Given the description of an element on the screen output the (x, y) to click on. 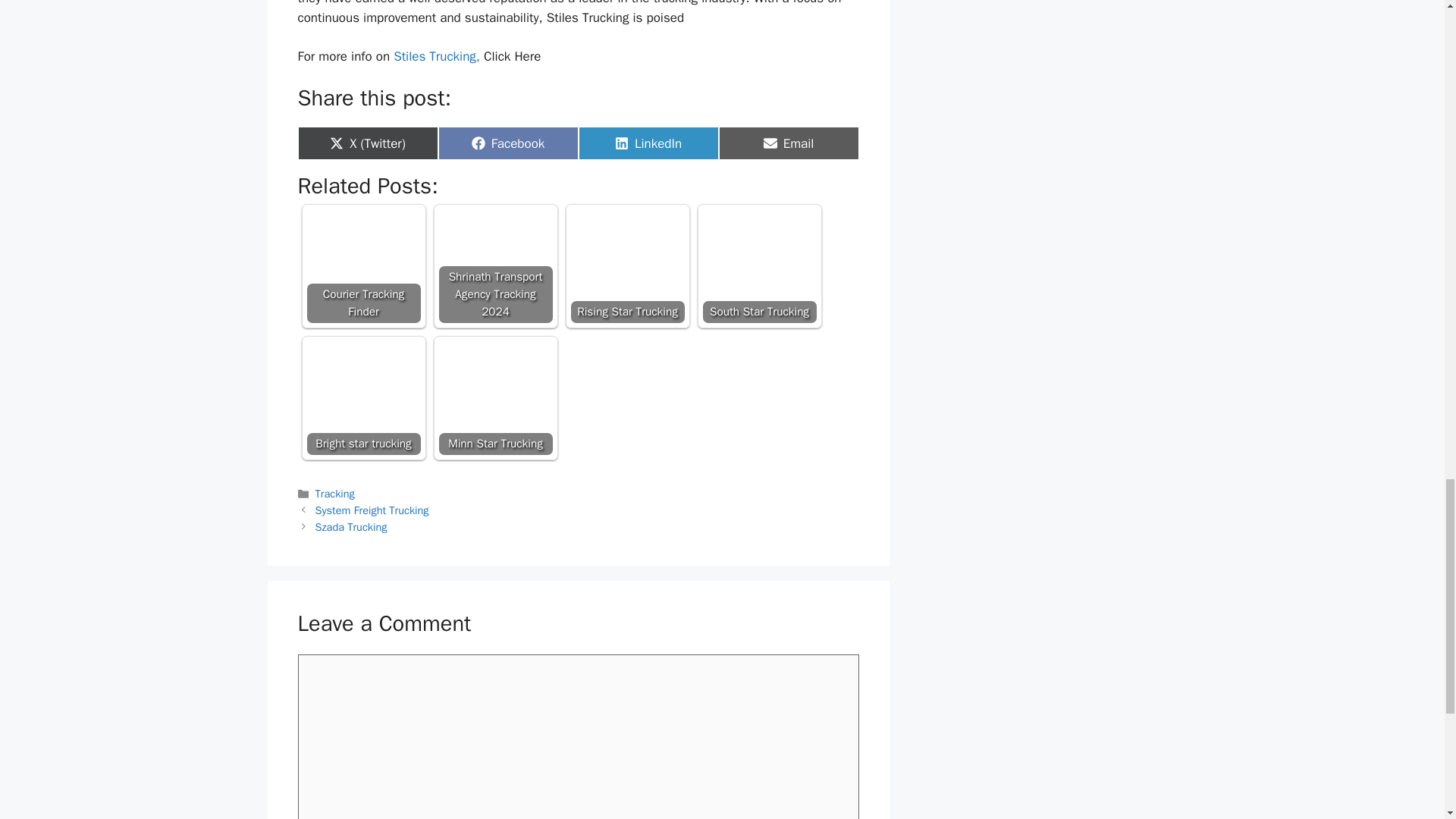
Szada Trucking (351, 526)
South Star Trucking (758, 265)
Bright star trucking (362, 398)
Rising Star Trucking (627, 265)
Minn Star Trucking (494, 398)
Stiles Trucking, (436, 56)
Bright star trucking (362, 398)
South Star Trucking (758, 265)
Rising Star Trucking (627, 265)
Minn Star Trucking (494, 398)
Courier Tracking Finder (362, 265)
Shrinath Transport Agency Tracking 2024 (789, 142)
Courier Tracking Finder (494, 265)
Shrinath Transport Agency Tracking 2024 (362, 265)
